Given the description of an element on the screen output the (x, y) to click on. 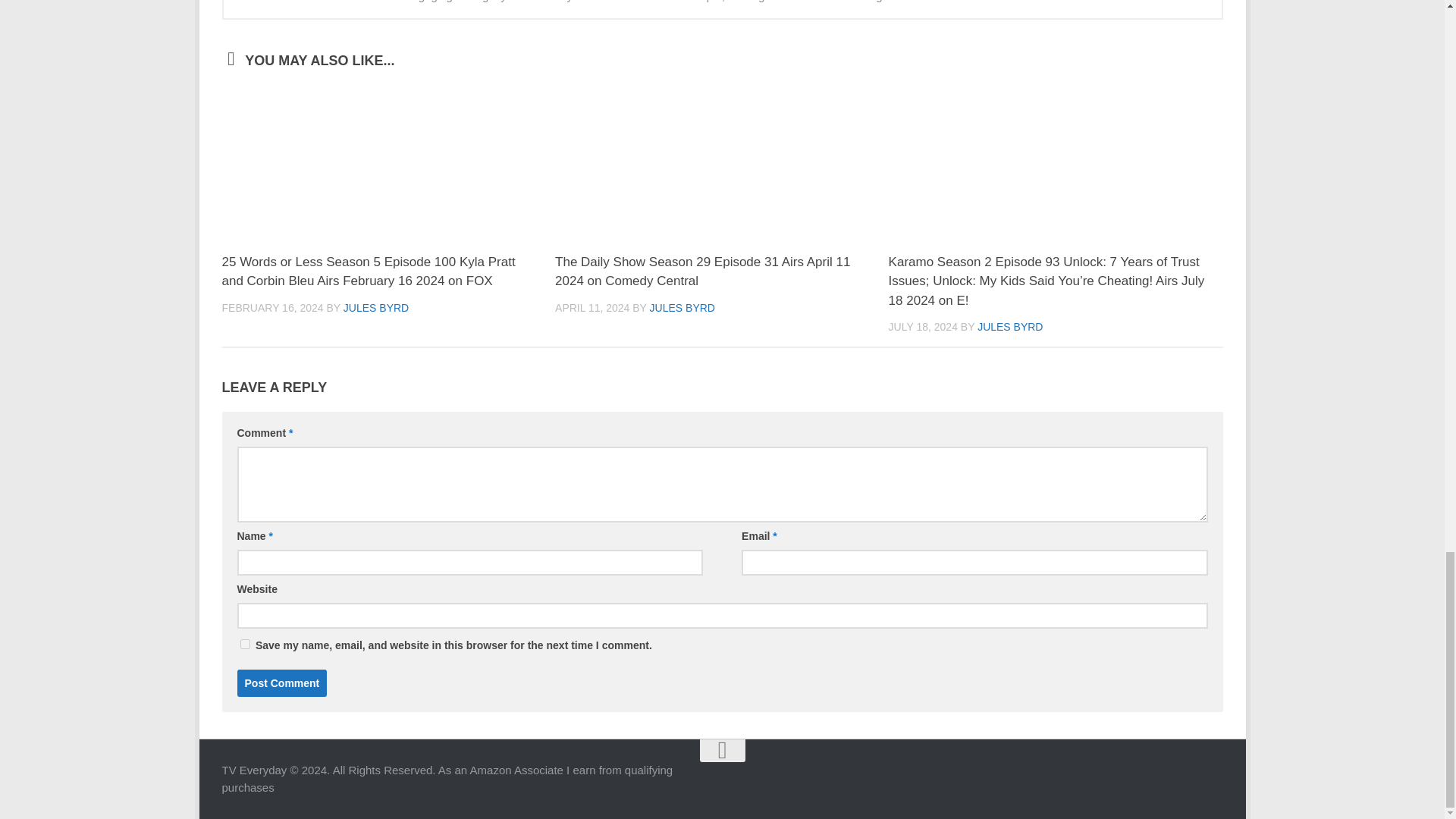
JULES BYRD (681, 307)
JULES BYRD (376, 307)
Posts by Jules Byrd (376, 307)
Posts by Jules Byrd (1009, 326)
Post Comment (280, 682)
JULES BYRD (1009, 326)
Post Comment (280, 682)
yes (244, 644)
Posts by Jules Byrd (681, 307)
